Given the description of an element on the screen output the (x, y) to click on. 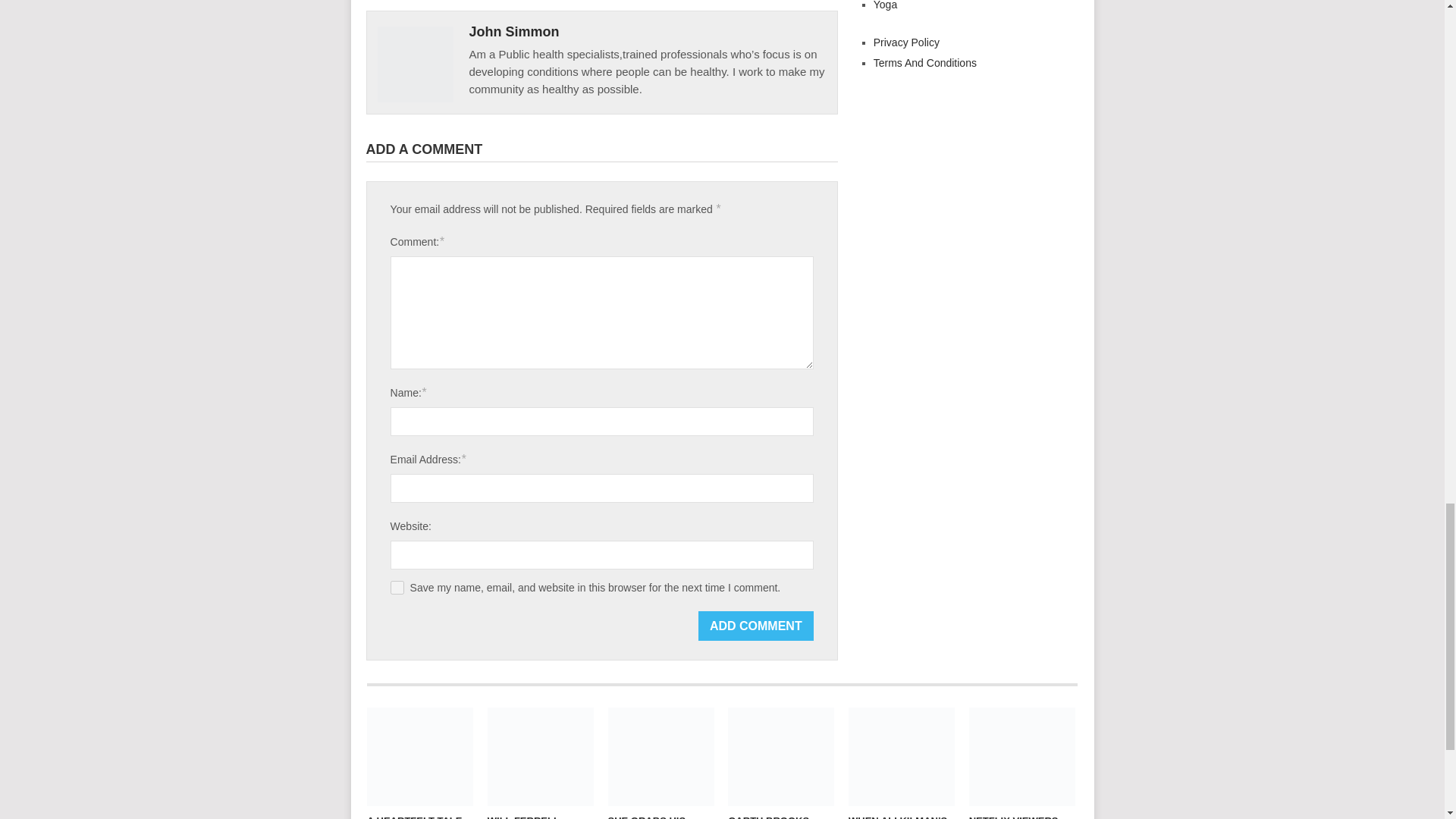
yes (397, 587)
Add Comment (755, 625)
Add Comment (755, 625)
